Given the description of an element on the screen output the (x, y) to click on. 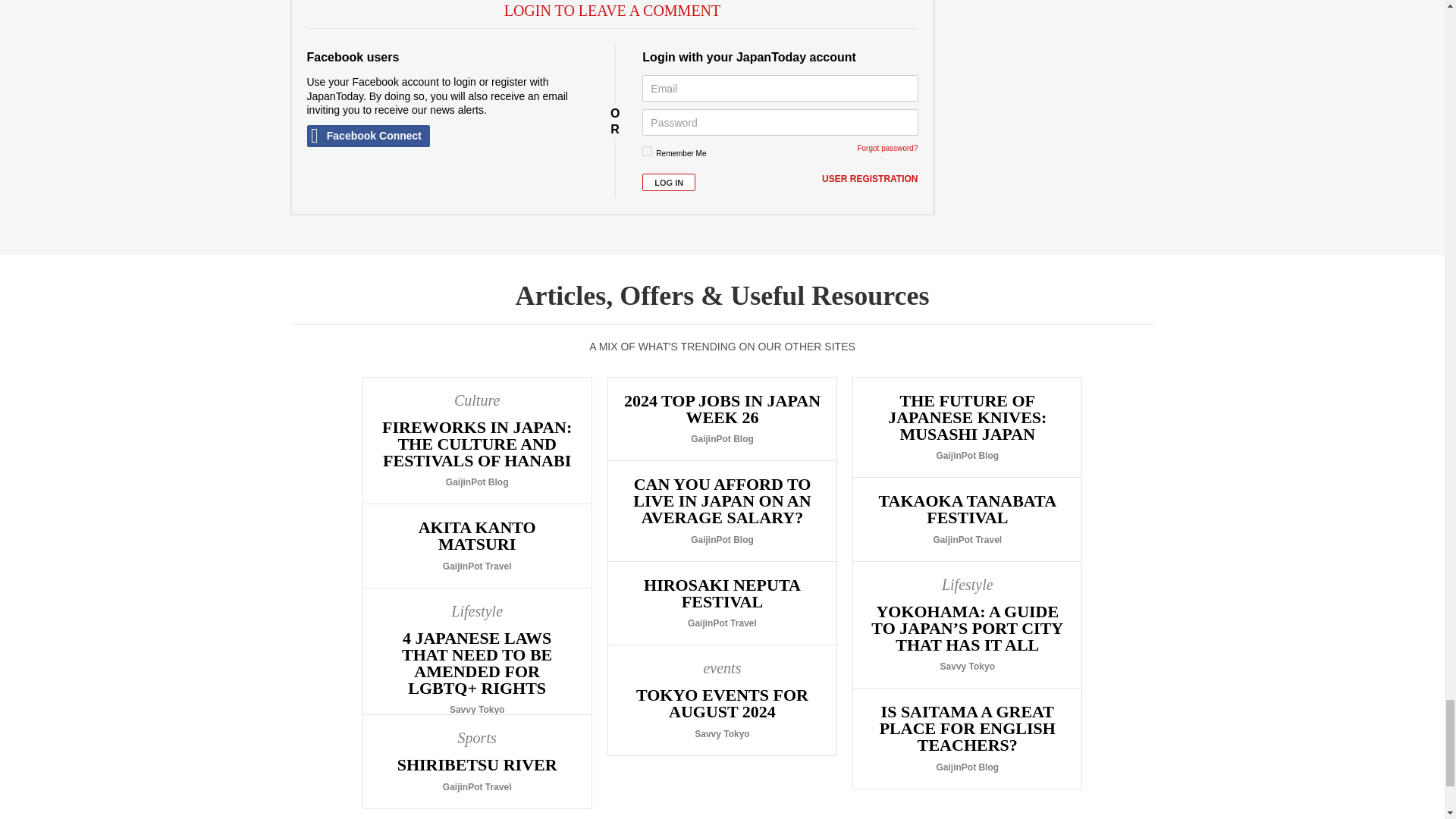
User registration (869, 179)
Forgot password? (887, 148)
Fireworks In Japan: The Culture and Festivals of Hanabi (476, 440)
Connect with Facebook (367, 136)
1 (647, 151)
Log In (668, 181)
